Given the description of an element on the screen output the (x, y) to click on. 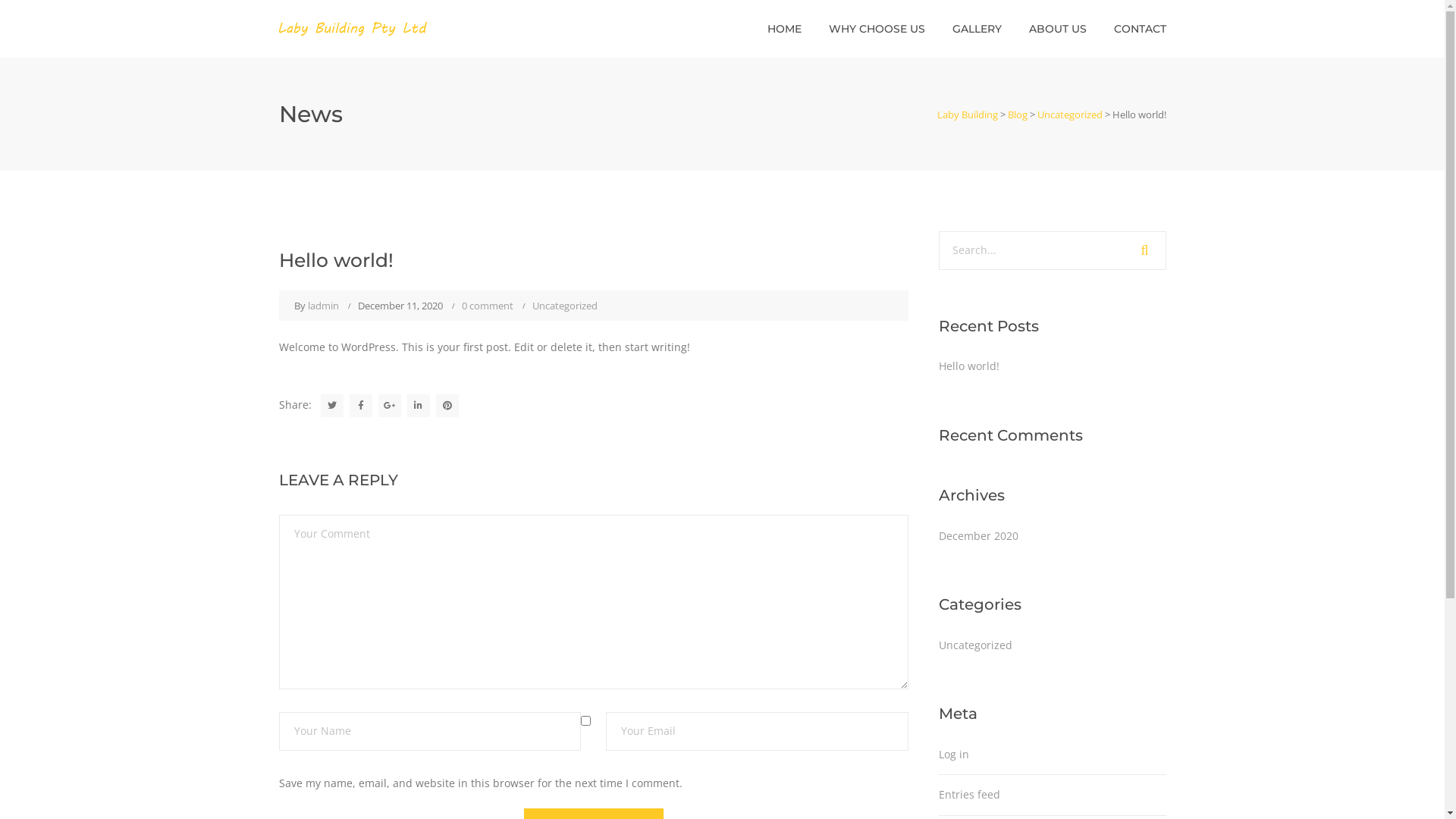
Blog Element type: text (1016, 114)
Entries feed Element type: text (969, 794)
December 2020 Element type: text (978, 536)
ladmin Element type: text (322, 305)
Uncategorized Element type: text (975, 645)
Hello world! Element type: text (968, 365)
HOME Element type: text (784, 28)
Uncategorized Element type: text (1069, 114)
WHY CHOOSE US Element type: text (876, 28)
GALLERY Element type: text (976, 28)
Uncategorized Element type: text (564, 305)
Log in Element type: text (953, 753)
CONTACT Element type: text (1139, 28)
ABOUT US Element type: text (1056, 28)
0 comment Element type: text (486, 305)
Laby Building Element type: text (967, 114)
